Given the description of an element on the screen output the (x, y) to click on. 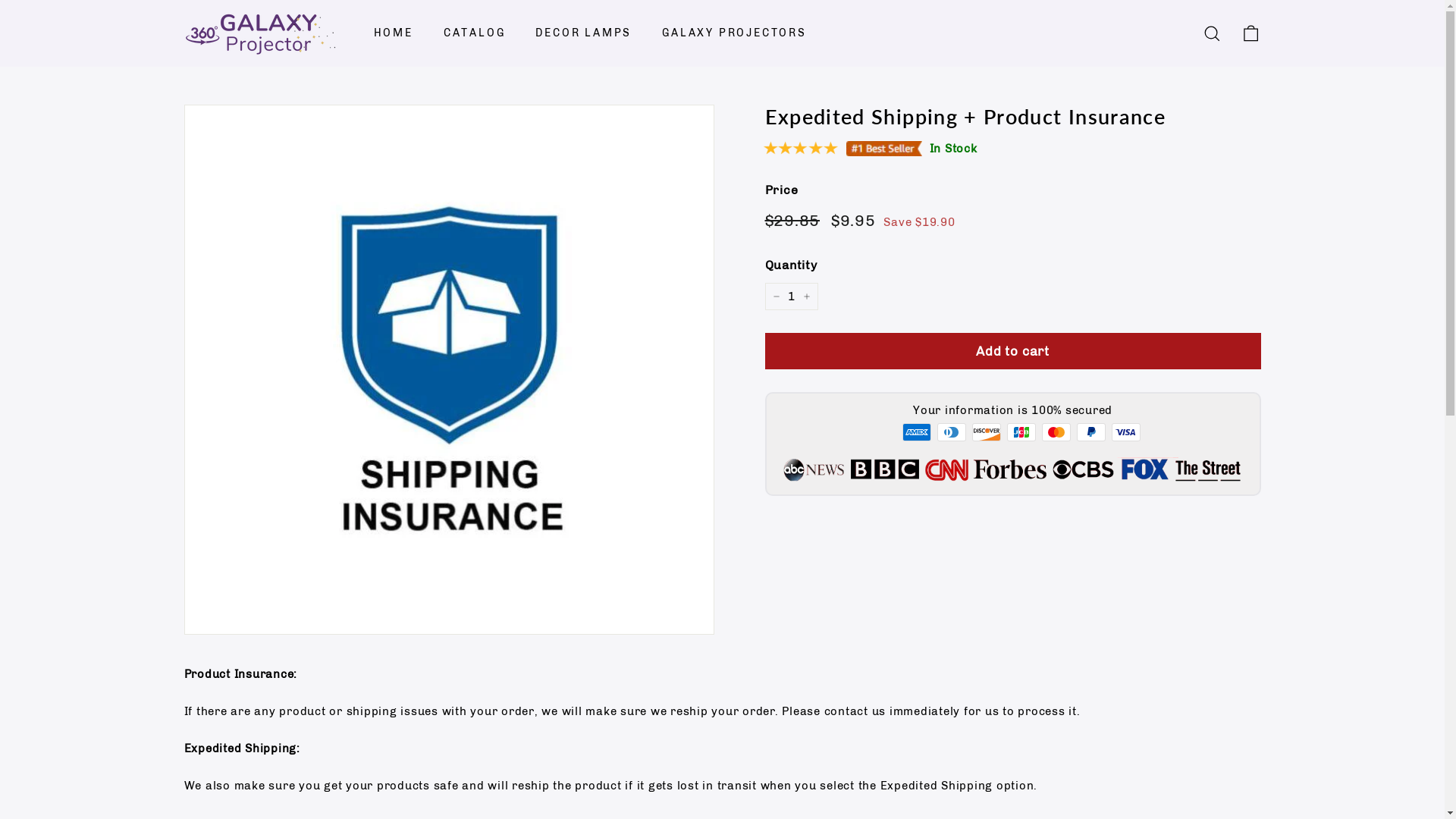
+ Element type: text (805, 296)
Add to cart Element type: text (1012, 350)
CATALOG Element type: text (474, 32)
HOME Element type: text (392, 32)
SEARCH Element type: text (1211, 32)
GALAXY PROJECTORS Element type: text (734, 32)
Skip to content Element type: text (0, 0)
DECOR LAMPS Element type: text (583, 32)
